Given the description of an element on the screen output the (x, y) to click on. 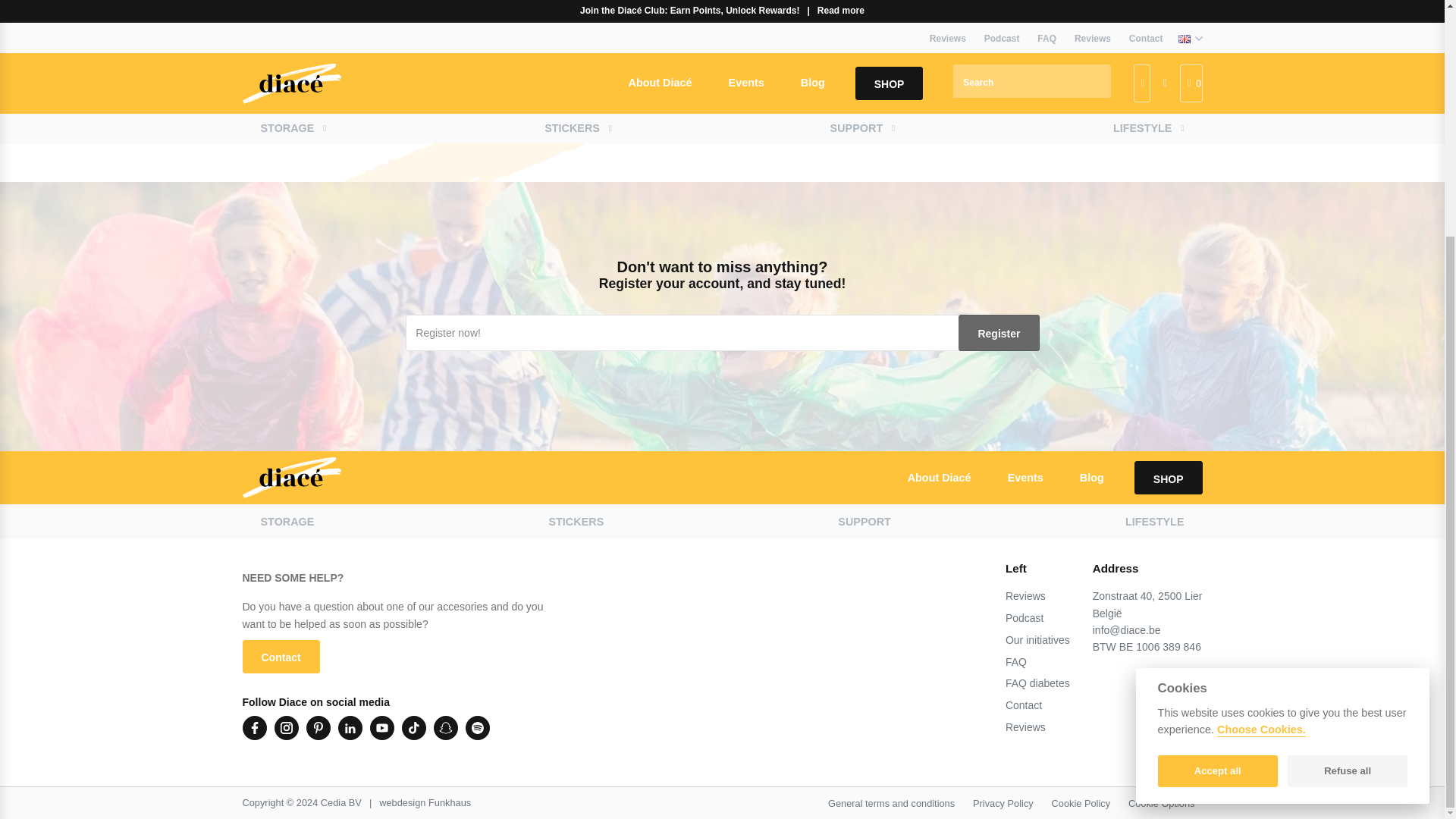
Register (998, 332)
Logo - Cedia BV (291, 477)
